Given the description of an element on the screen output the (x, y) to click on. 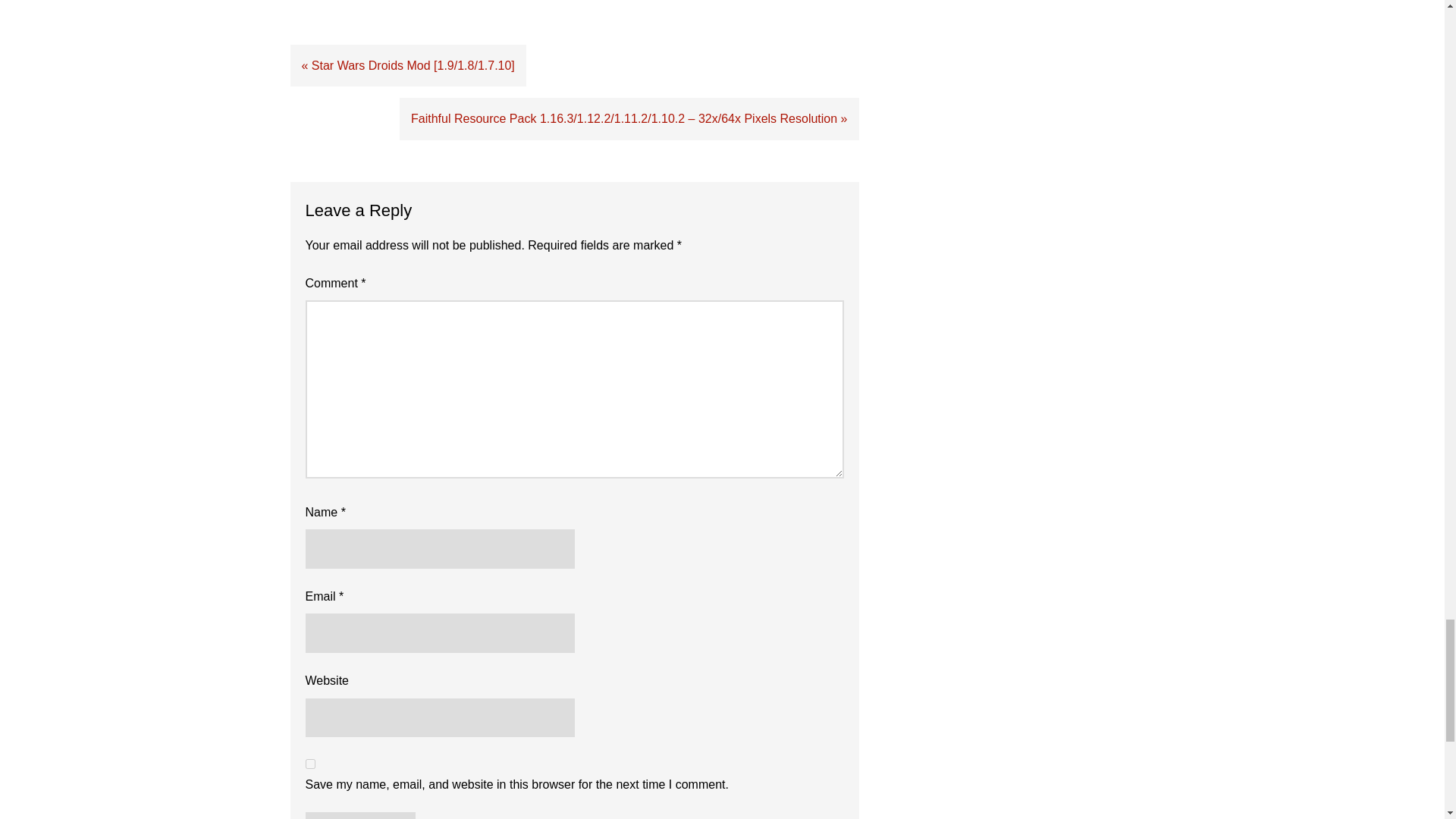
Post Comment (359, 815)
yes (309, 764)
